Given the description of an element on the screen output the (x, y) to click on. 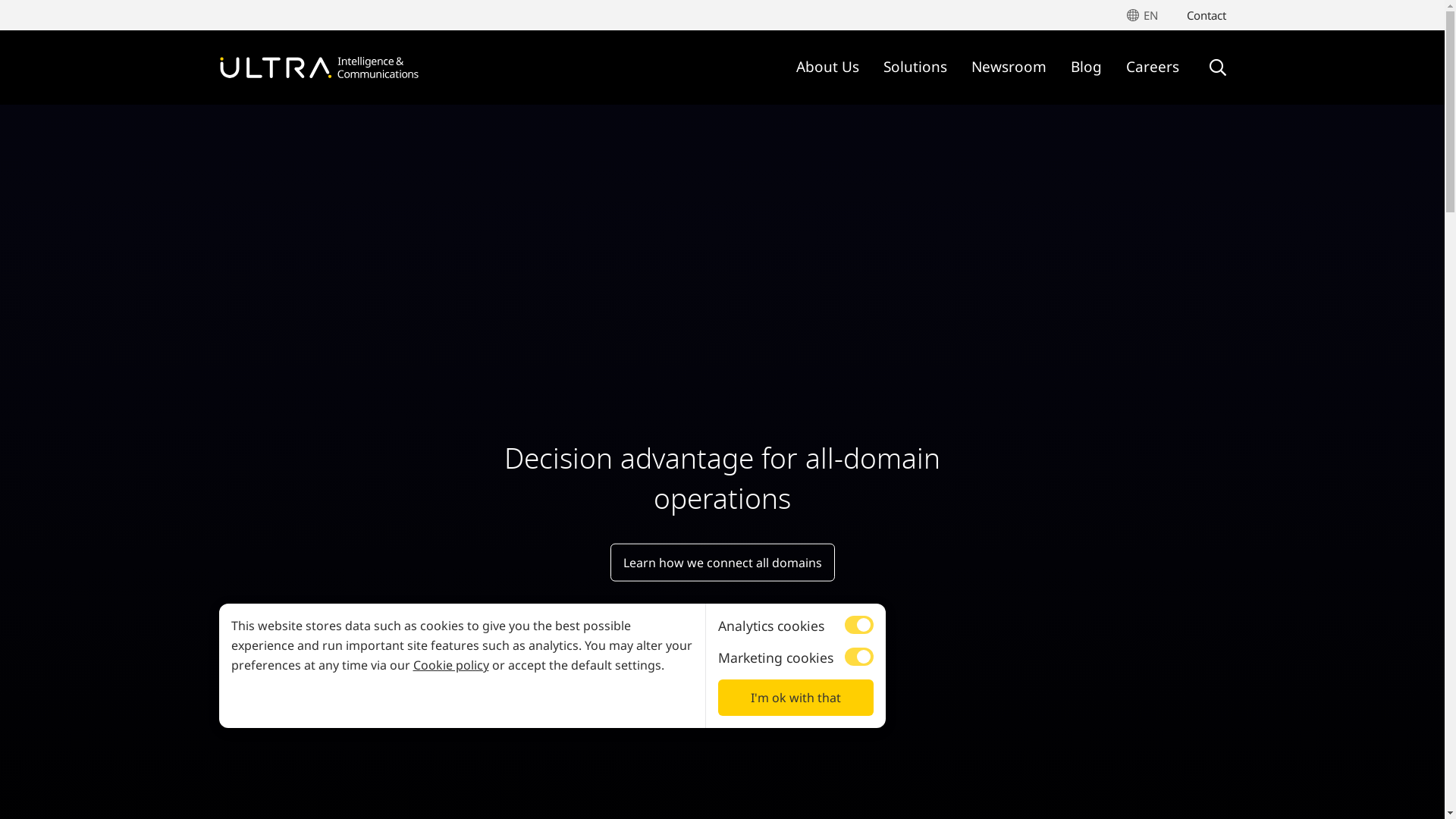
Careers Element type: text (1151, 67)
Contact Element type: text (1205, 14)
Newsroom Element type: text (1007, 67)
Decision advantage for all-domain operations Element type: text (722, 479)
Blog Element type: text (1085, 67)
About Us Element type: text (827, 67)
I'm ok with that Element type: text (795, 697)
Learn how we connect all domains Element type: text (721, 561)
Cookie policy Element type: text (450, 664)
Solutions Element type: text (914, 67)
